Given the description of an element on the screen output the (x, y) to click on. 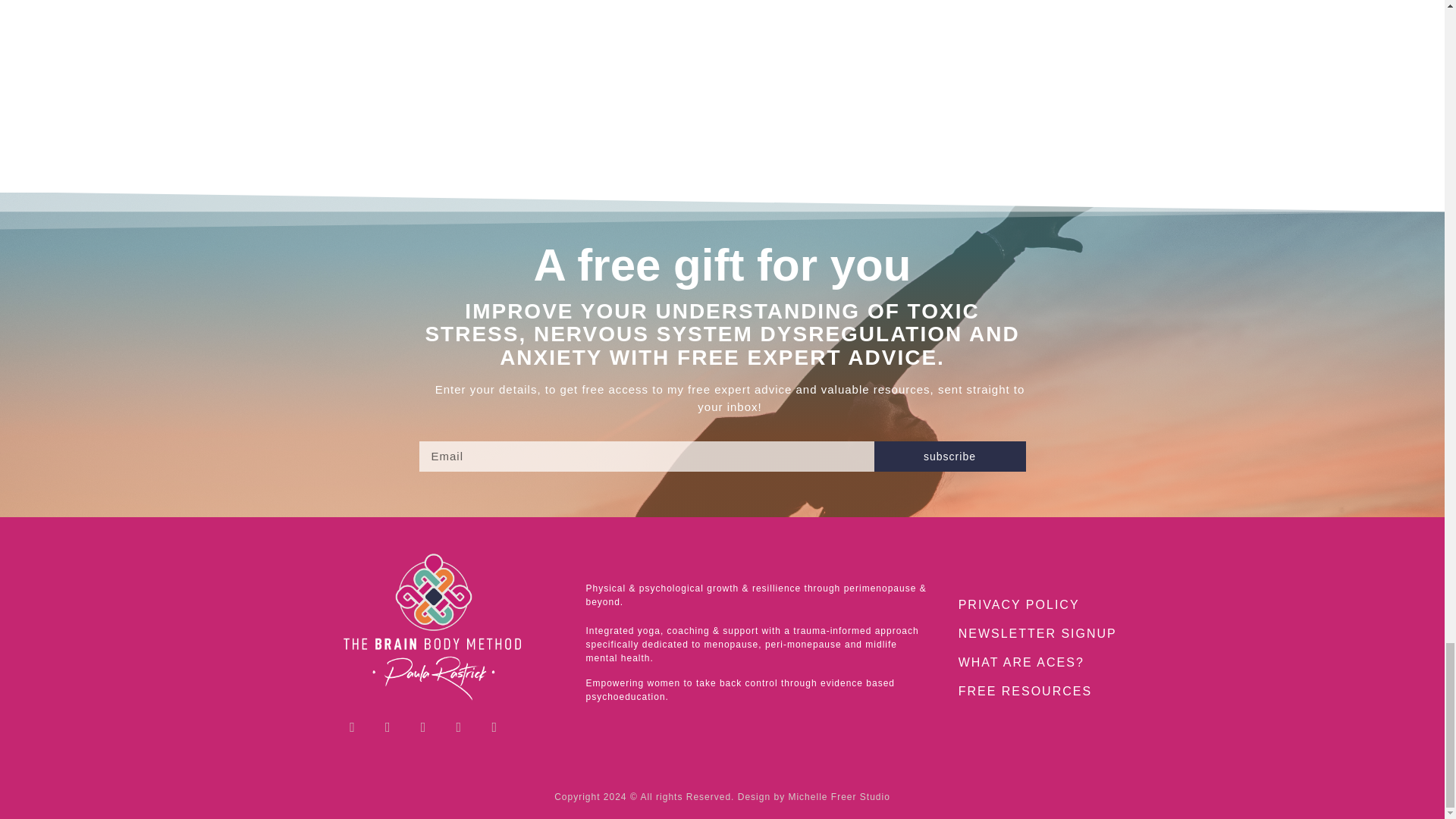
subscribe (949, 456)
PRIVACY POLICY (1043, 604)
NEWSLETTER SIGNUP (1043, 633)
